Given the description of an element on the screen output the (x, y) to click on. 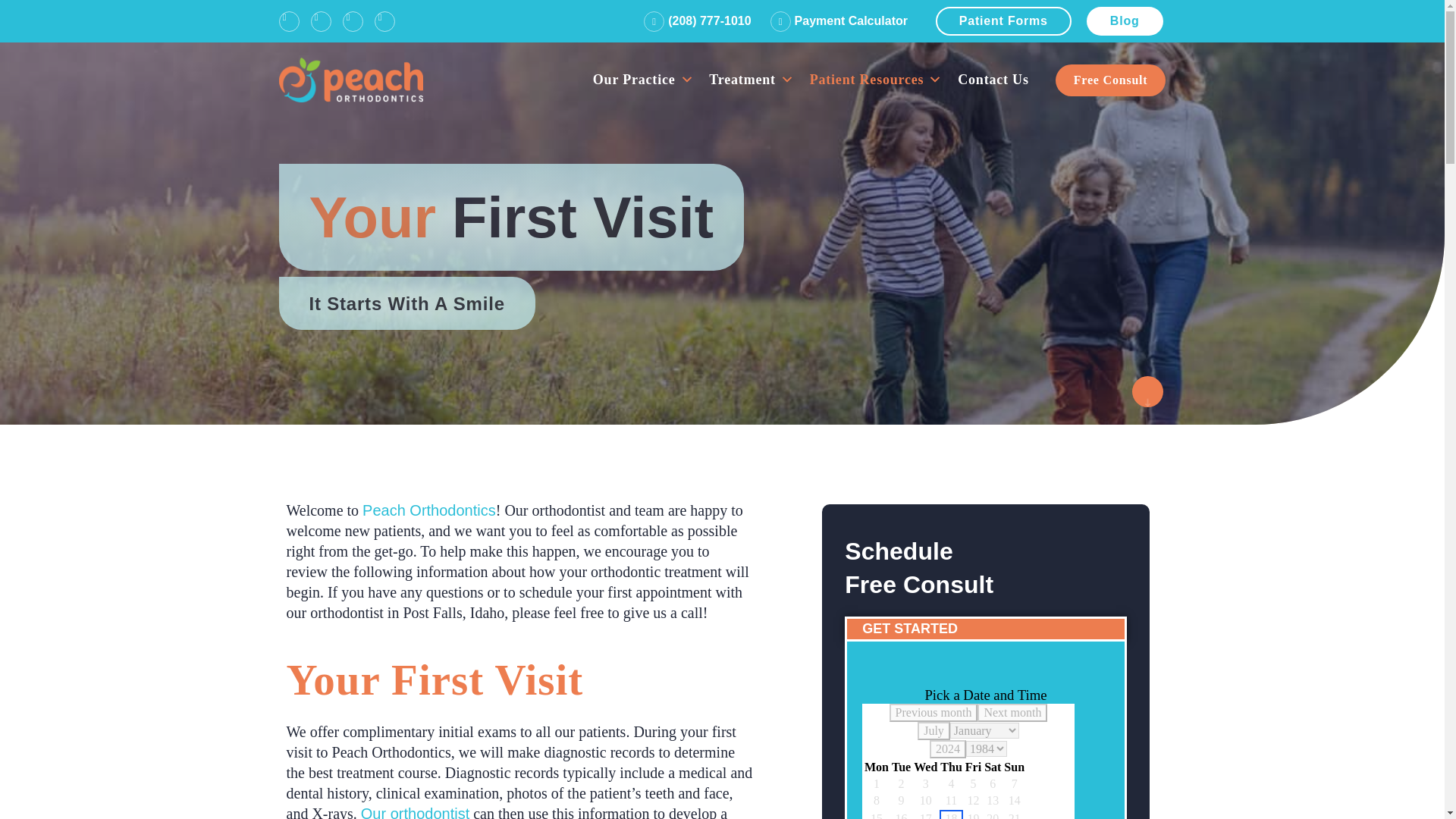
Patient Forms (1003, 21)
Blog (1124, 21)
Yelp (384, 20)
Instagram (321, 20)
Treatment (751, 79)
Google (352, 20)
Our Practice (643, 79)
Payment Calculator (838, 20)
Facebook-f (289, 20)
